Given the description of an element on the screen output the (x, y) to click on. 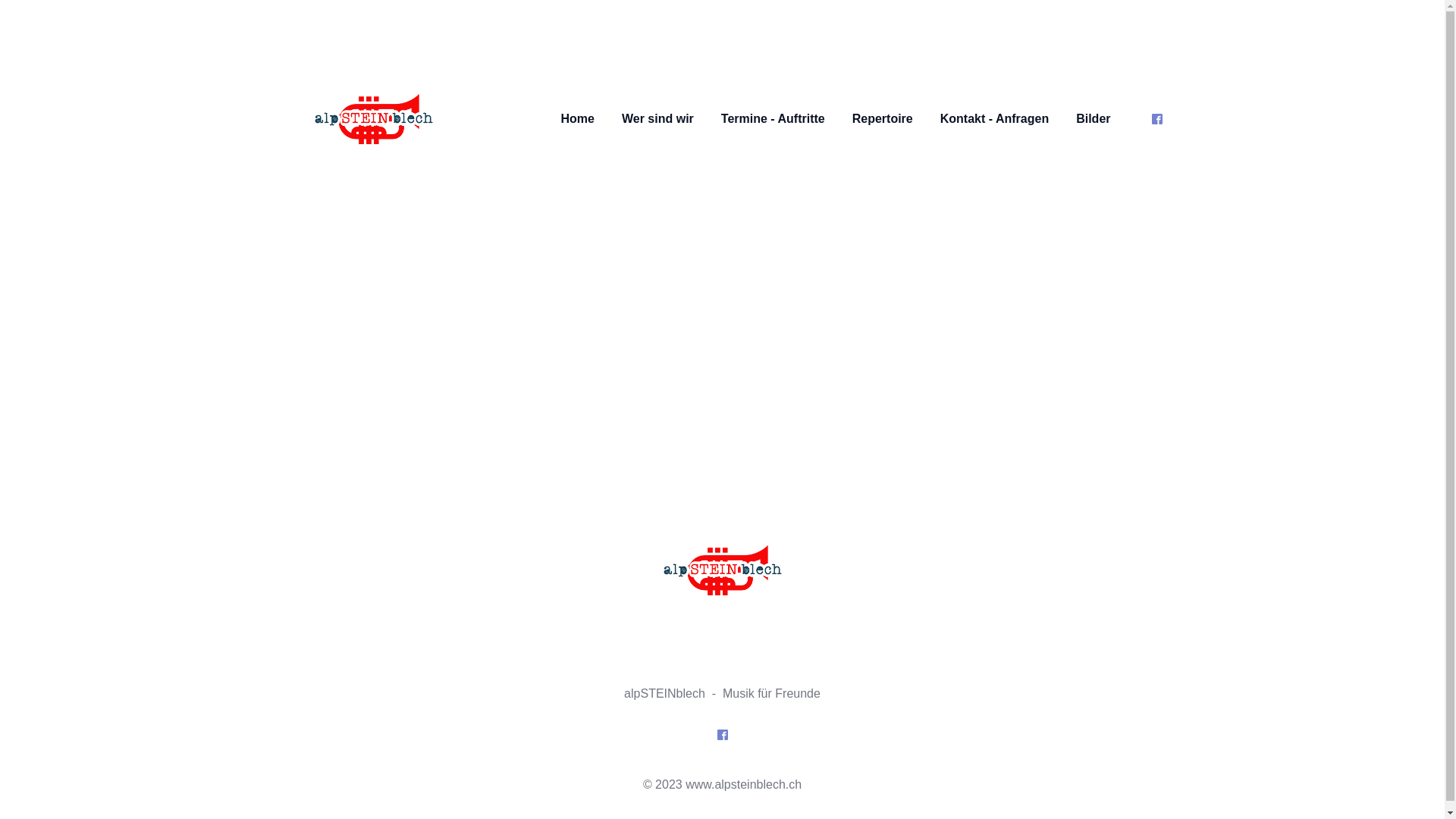
Repertoire Element type: text (882, 118)
Kontakt - Anfragen Element type: text (994, 118)
Bilder Element type: text (1093, 118)
Home Element type: text (577, 118)
Wer sind wir Element type: text (657, 118)
Termine - Auftritte Element type: text (773, 118)
